Given the description of an element on the screen output the (x, y) to click on. 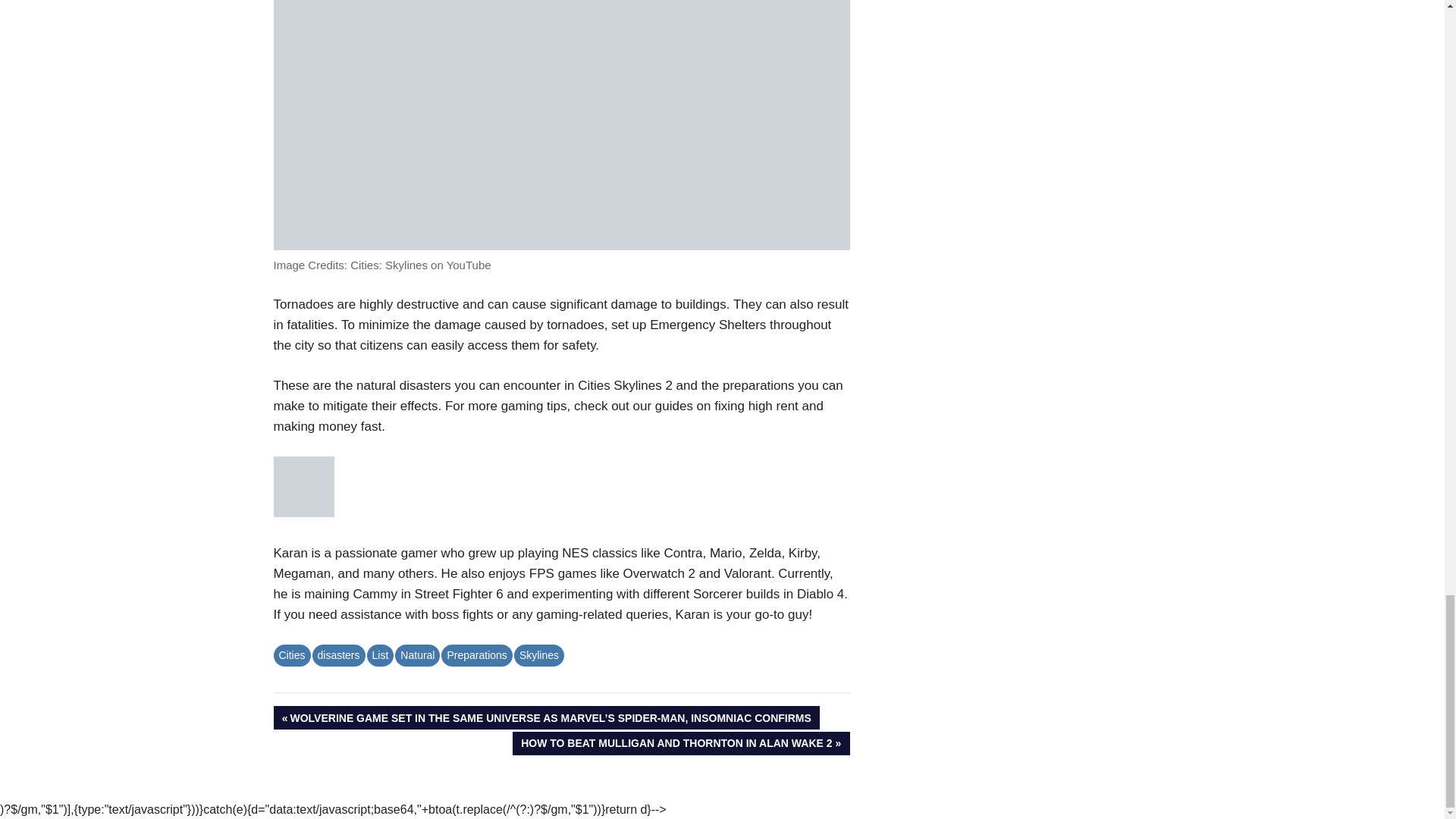
Natural (416, 655)
Skylines (681, 743)
disasters (538, 655)
List (339, 655)
Preparations (380, 655)
Cities (476, 655)
